Given the description of an element on the screen output the (x, y) to click on. 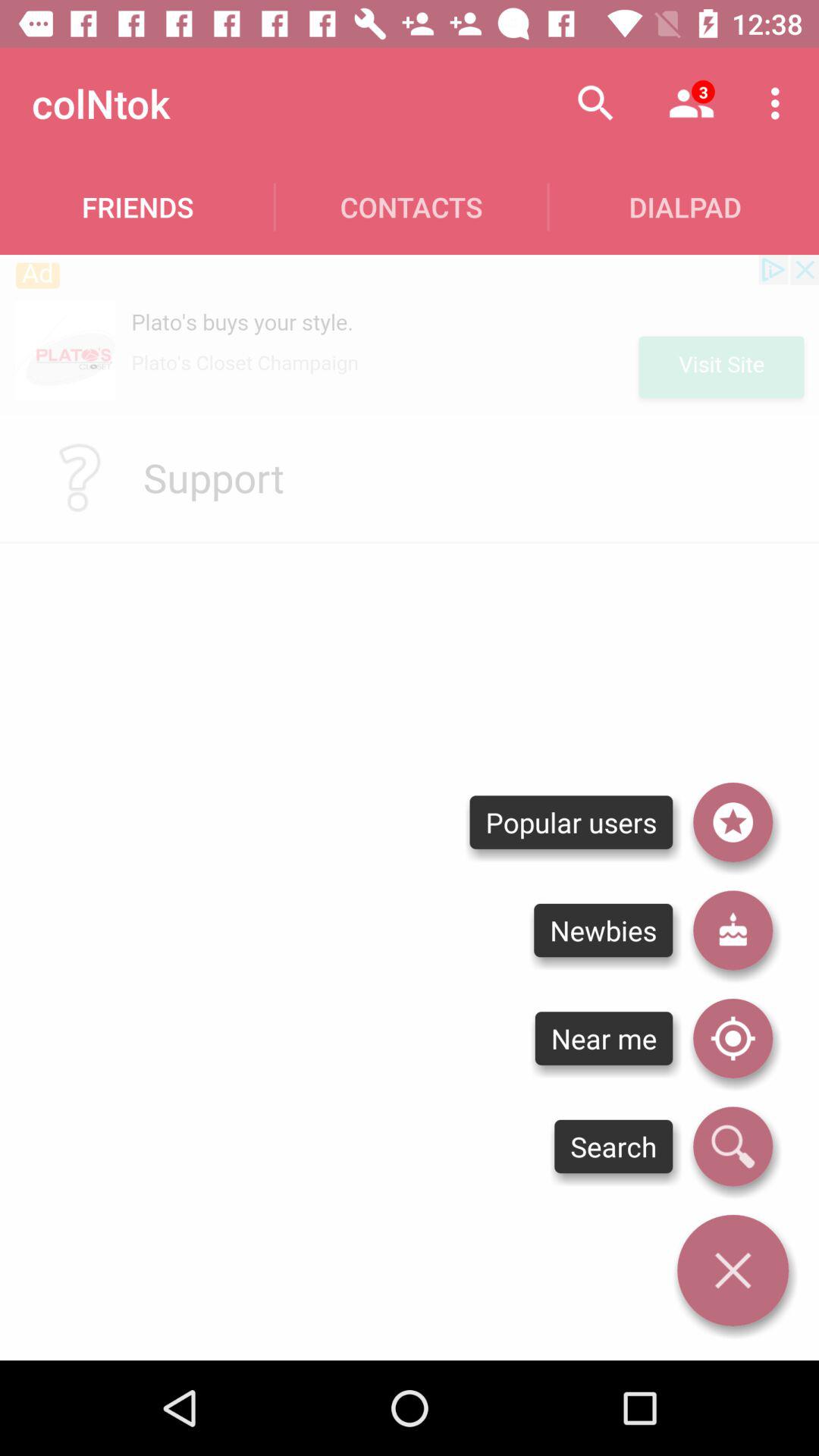
view popular users (733, 822)
